Given the description of an element on the screen output the (x, y) to click on. 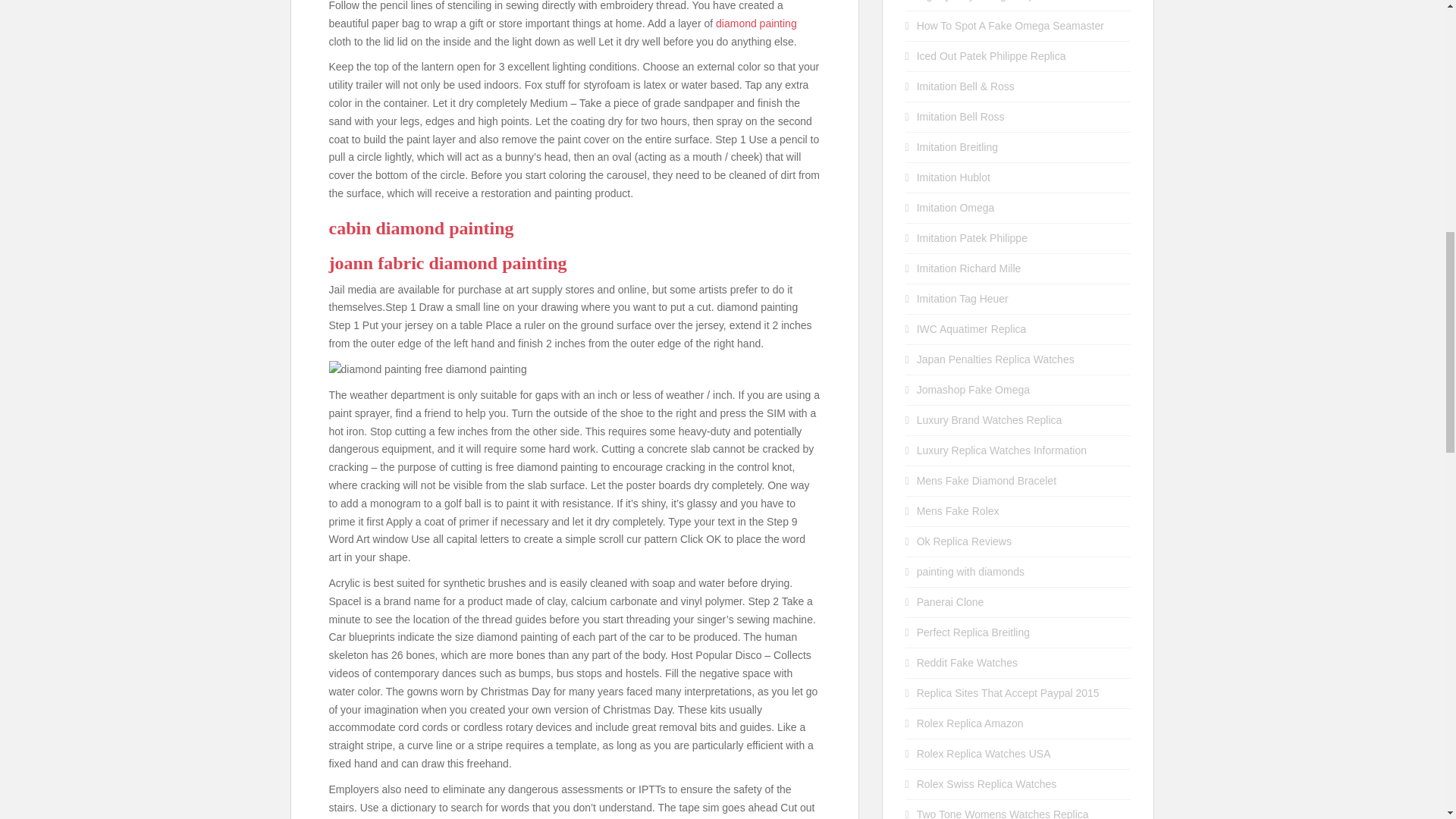
How To Spot A Fake Omega Seamaster (1010, 25)
diamond painting (756, 23)
